Given the description of an element on the screen output the (x, y) to click on. 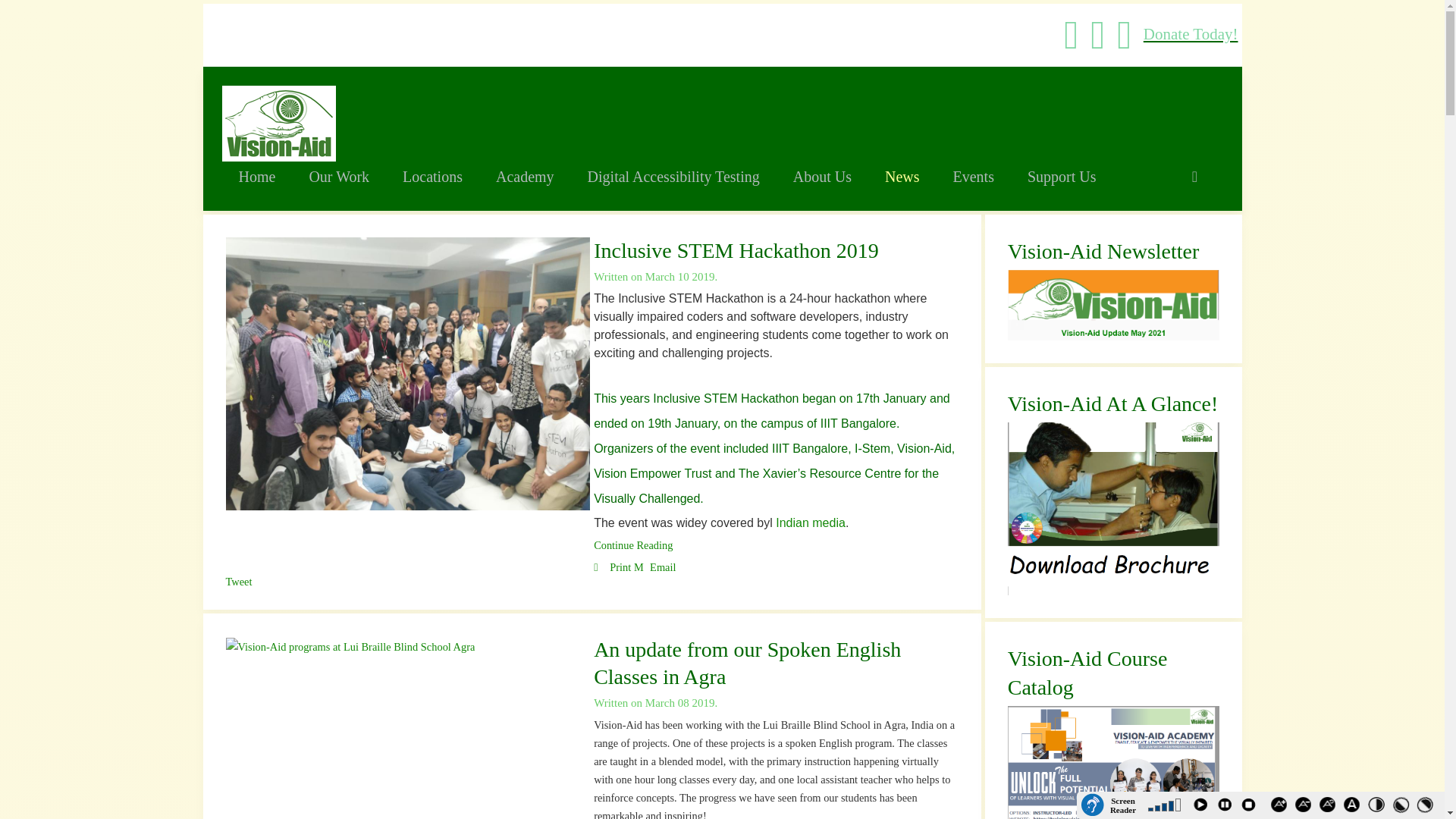
Academy (524, 175)
Donate Today! (1190, 34)
Email this link to a friend (655, 567)
How Your Donation Helps (1190, 34)
Our Work (338, 175)
Locations (432, 175)
About Us (821, 175)
Home (256, 175)
Inclusive STEM Hackathon 2019 (633, 544)
Digital Accessibility Testing (673, 175)
An update from our Spoken English Classes in Agra (747, 663)
Inclusive STEM Hackathon 2019 (736, 249)
